Given the description of an element on the screen output the (x, y) to click on. 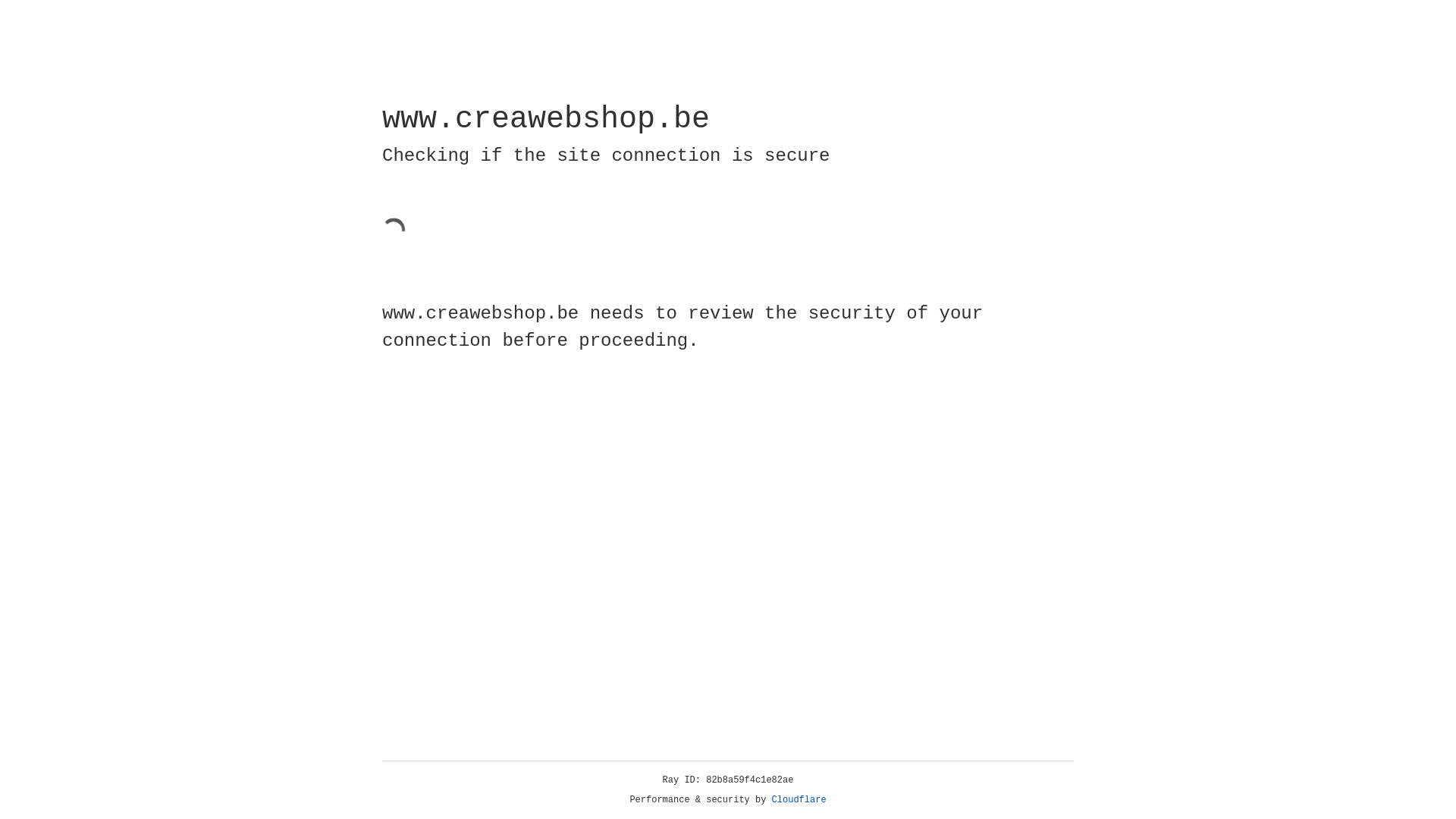
Cloudflare Element type: text (798, 799)
